Given the description of an element on the screen output the (x, y) to click on. 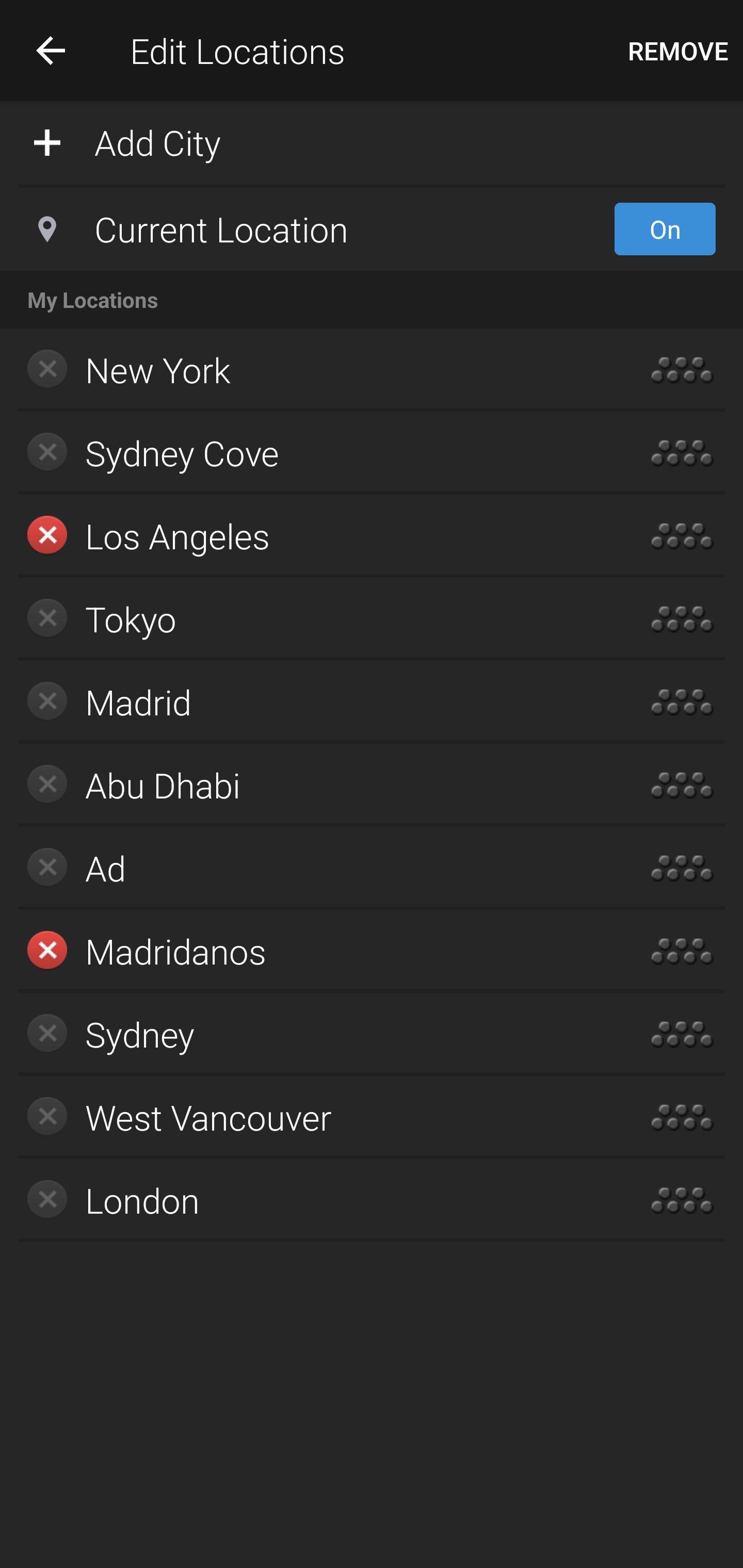
Navigate up (50, 50)
REMOVE (677, 50)
Add City (371, 141)
Current Location: On Current Location On (371, 229)
Delete: New York New York (311, 369)
Delete: Sydney Cove Sydney Cove (311, 452)
Delete: Los Angeles: Selected Los Angeles (311, 535)
Delete: Tokyo Tokyo (311, 618)
Delete: Madrid Madrid (311, 701)
Delete: Abu Dhabi Abu Dhabi (311, 784)
Delete: Ad Ad (311, 867)
Delete: Madridanos: Selected Madridanos (311, 950)
Delete: Sydney Sydney (311, 1033)
Delete: West Vancouver West Vancouver (311, 1116)
Delete: London London (311, 1200)
